Given the description of an element on the screen output the (x, y) to click on. 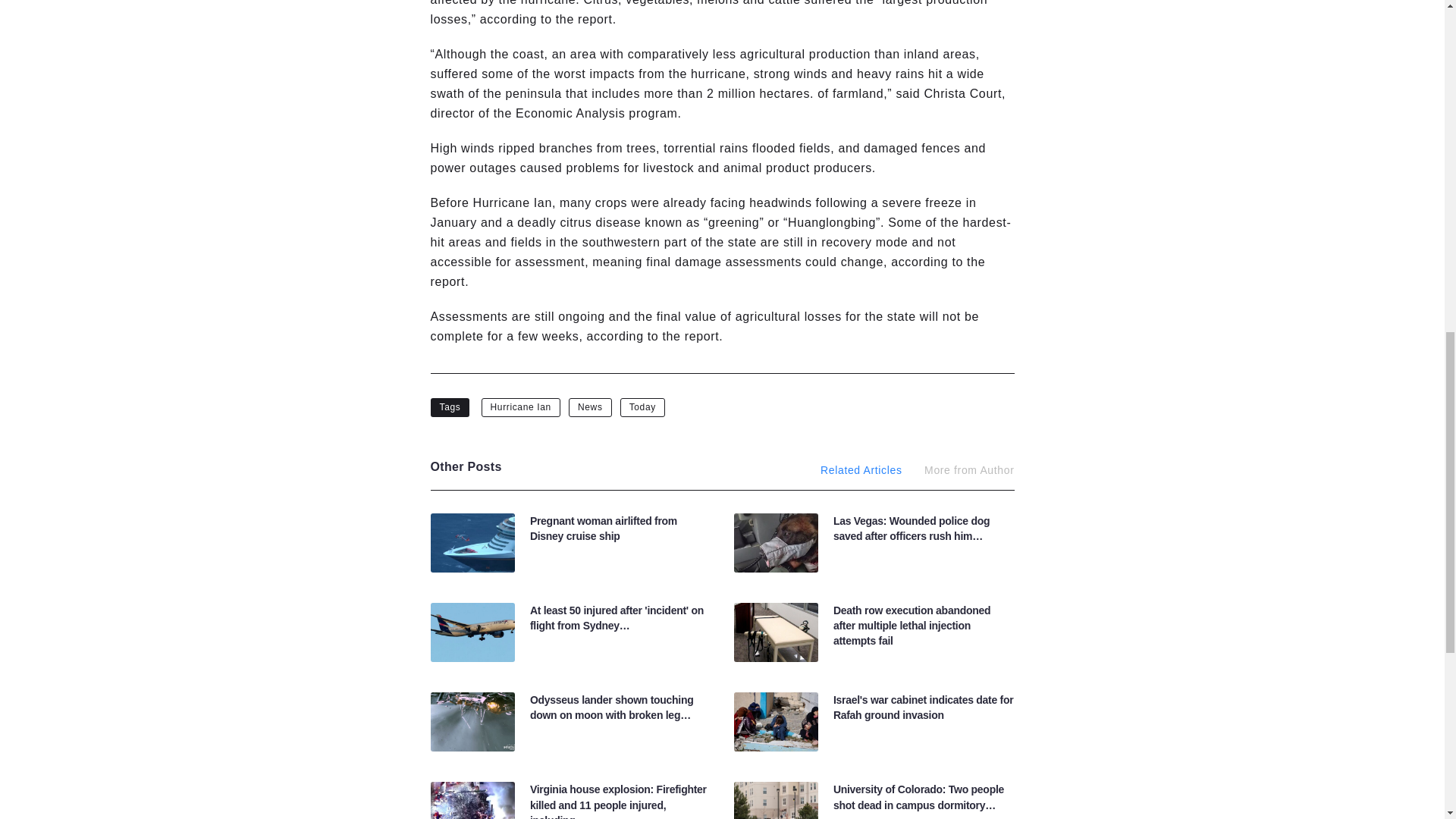
Pregnant woman airlifted from Disney cruise ship (603, 528)
News (590, 406)
Pregnant woman airlifted from Disney cruise ship (603, 528)
Today (642, 406)
Hurricane Ian (520, 406)
